Given the description of an element on the screen output the (x, y) to click on. 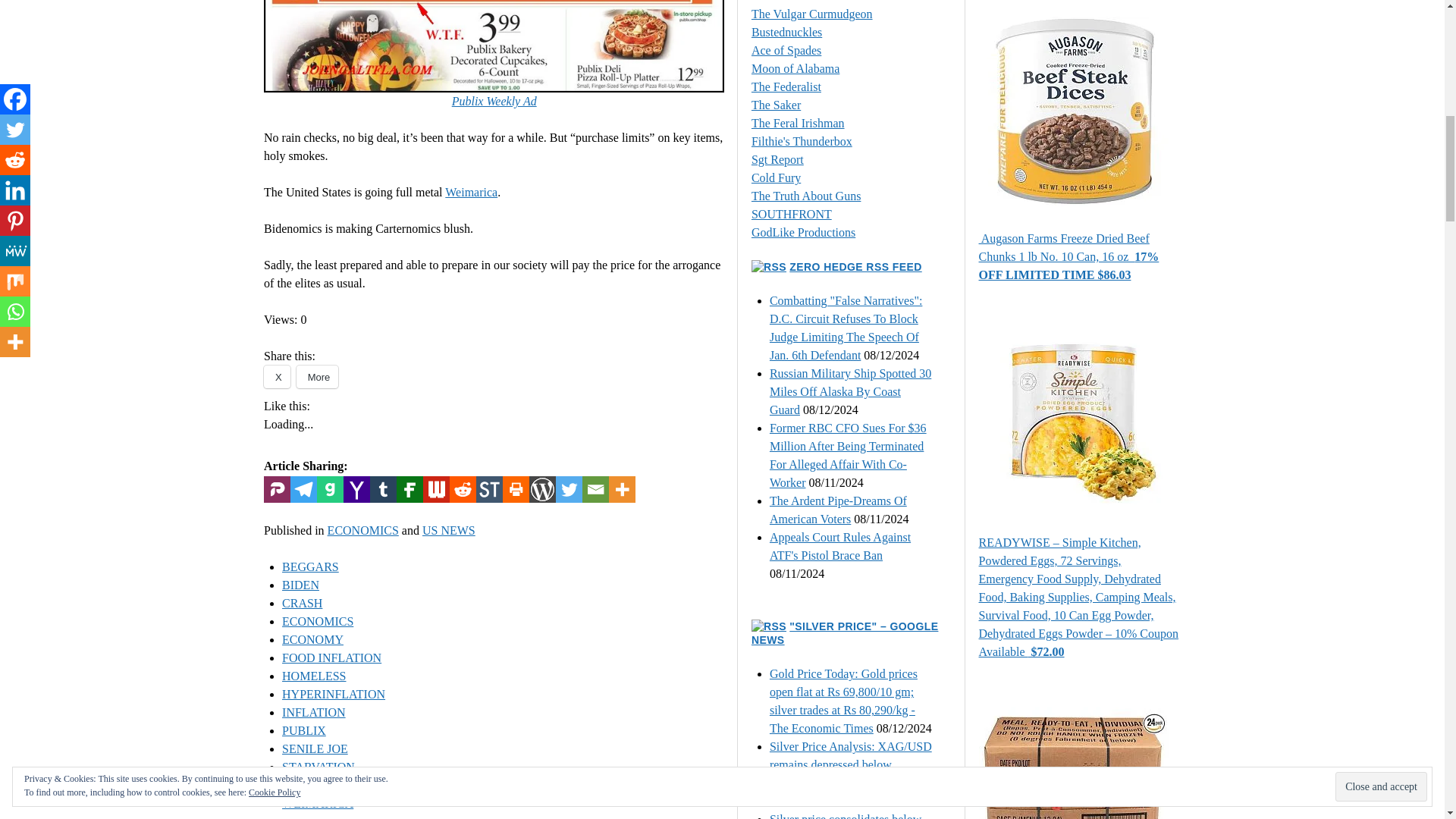
More (318, 376)
Publix Weekly Ad (494, 101)
Click to share on X (276, 376)
Gab (330, 488)
Yahoo Mail (356, 488)
X (276, 376)
Telegram (303, 488)
Weimarica (471, 192)
Tumblr (382, 488)
Parler (276, 488)
